Given the description of an element on the screen output the (x, y) to click on. 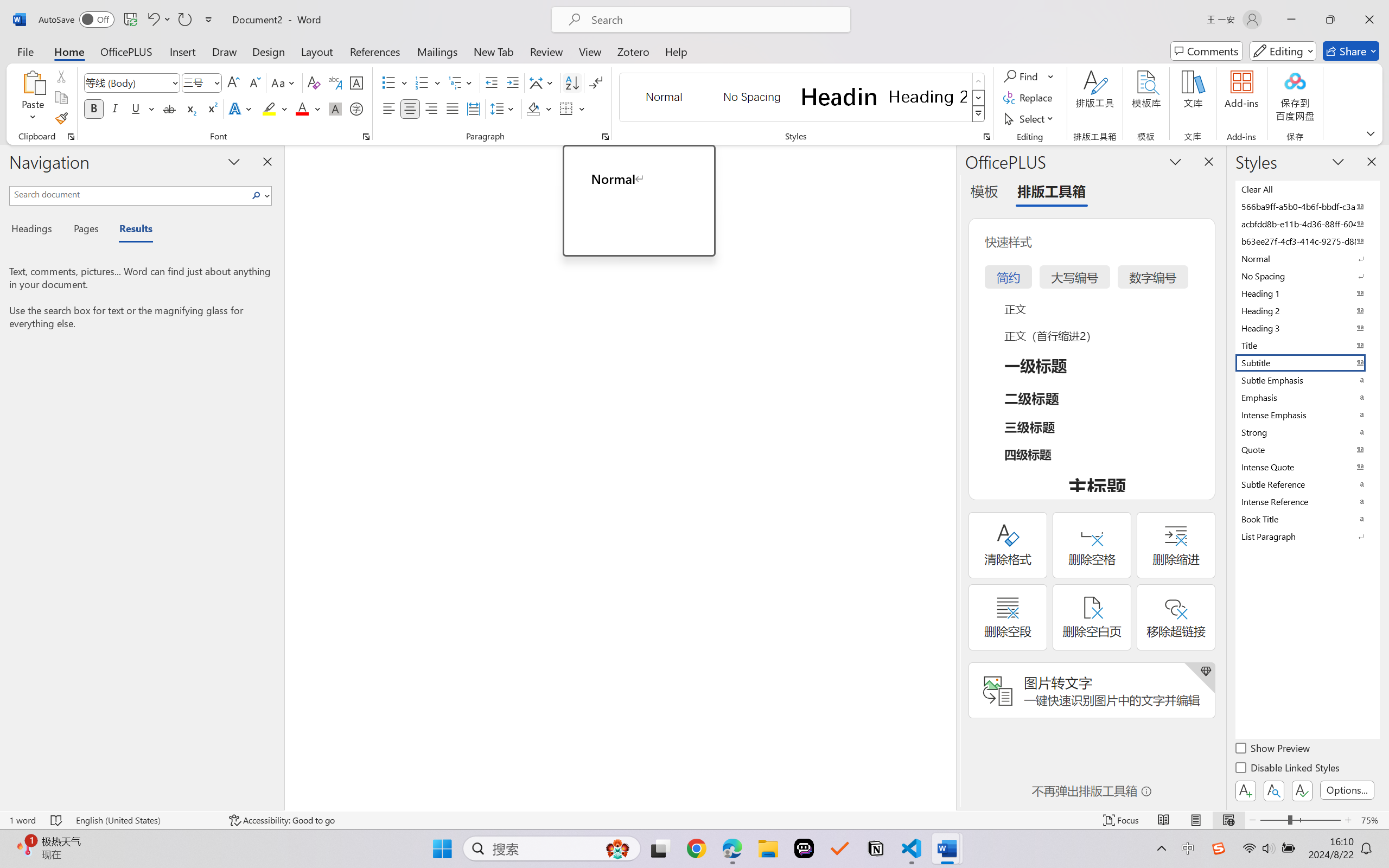
Quick Access Toolbar (127, 19)
Enclose Characters... (356, 108)
AutomationID: BadgeAnchorLargeTicker (24, 847)
Strikethrough (169, 108)
Show/Hide Editing Marks (595, 82)
Restore Down (1330, 19)
Styles... (986, 136)
Font Color (308, 108)
Font Color Red (302, 108)
Row Down (978, 97)
Language English (United States) (144, 819)
Clear Formatting (313, 82)
